Given the description of an element on the screen output the (x, y) to click on. 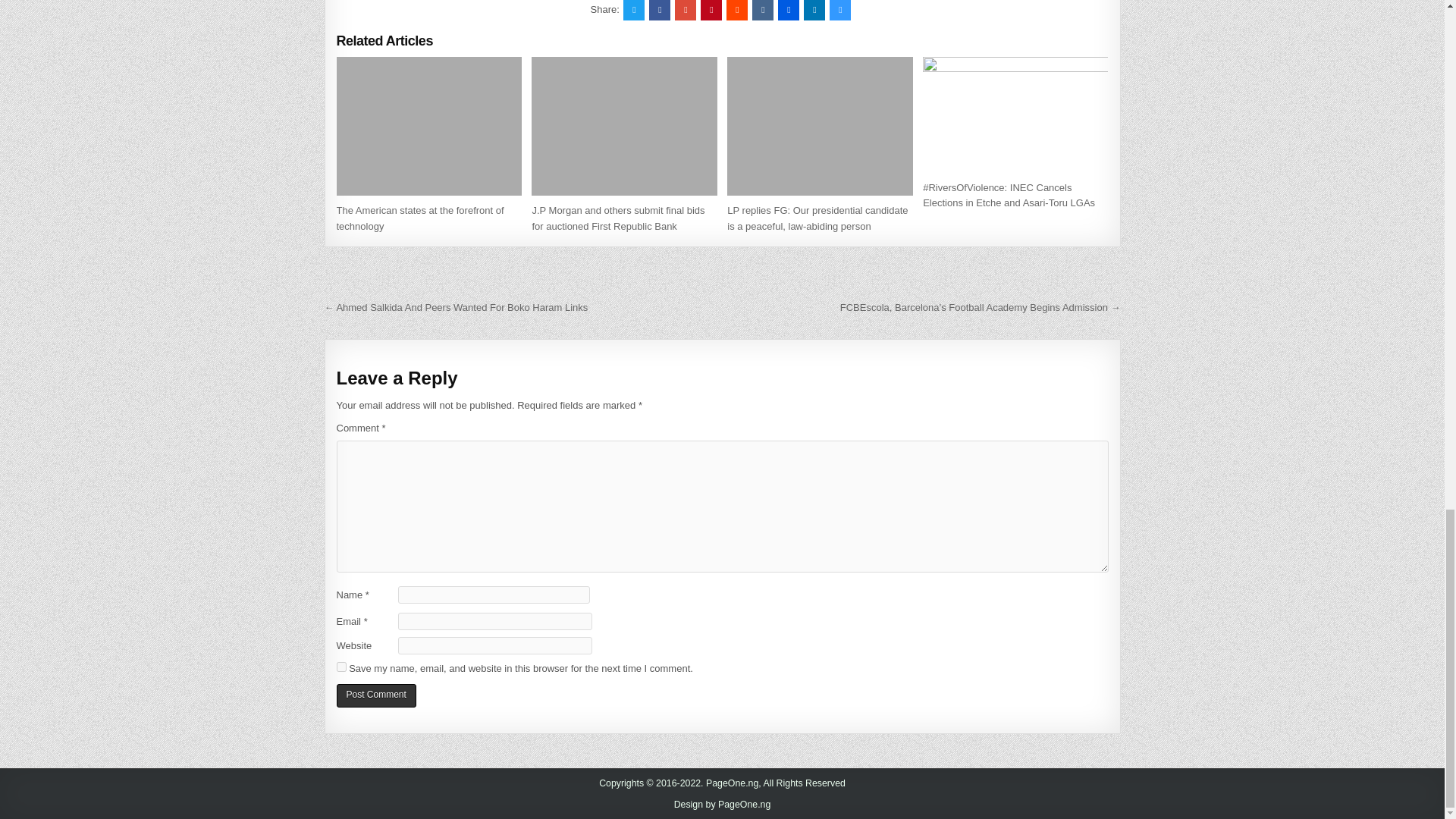
yes (341, 666)
Post Comment (376, 695)
